Given the description of an element on the screen output the (x, y) to click on. 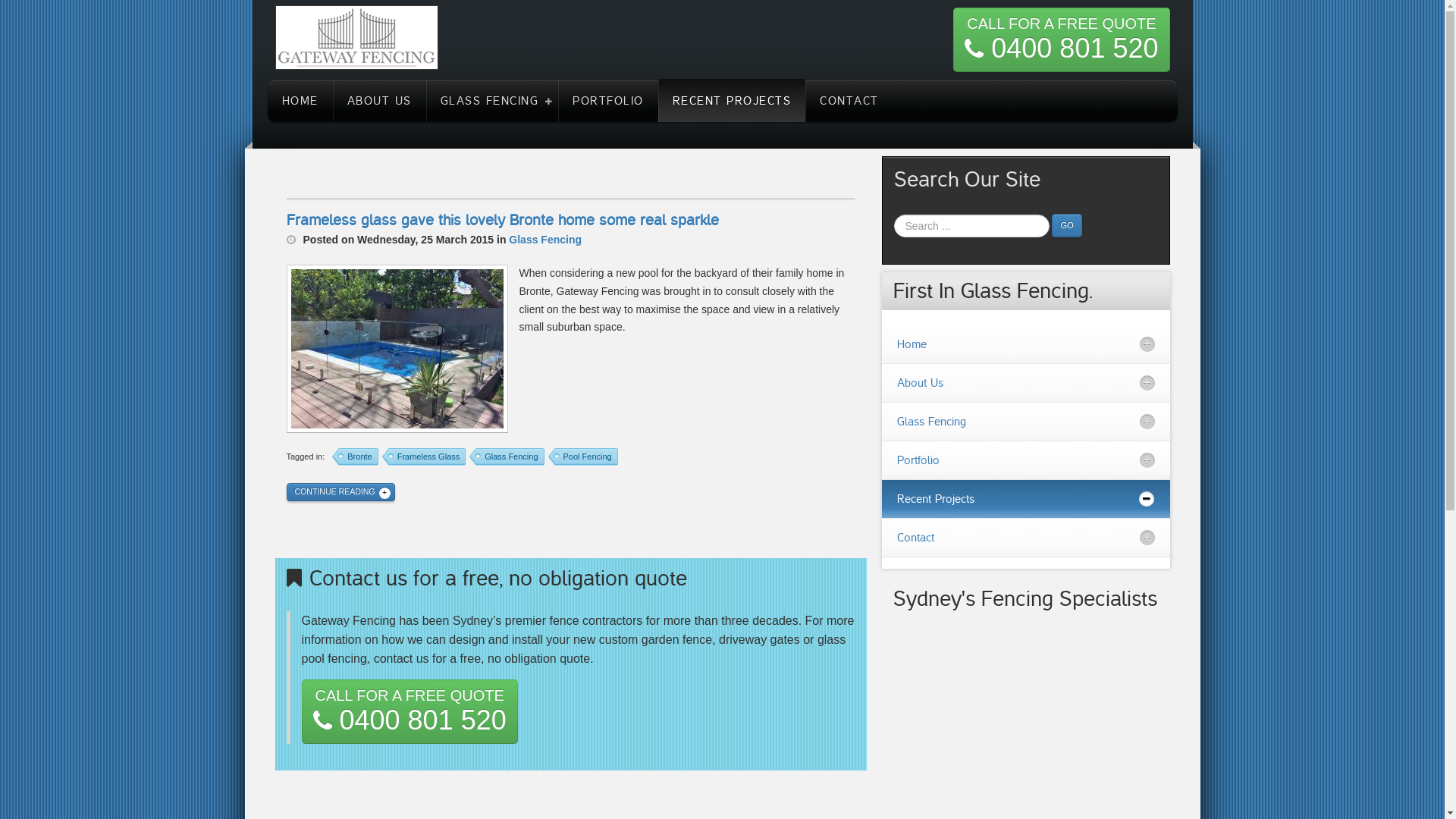
Bronte Element type: text (354, 456)
GLASS FENCING Element type: text (492, 100)
About Us Element type: text (1025, 382)
Home Element type: text (1025, 344)
Recent Projects Element type: text (1025, 498)
CALL FOR A FREE QUOTE
0400 801 520 Element type: text (409, 711)
Contact Element type: text (1025, 537)
GO Element type: text (1066, 225)
Glass Fencing Element type: text (506, 456)
CONTINUE READING Element type: text (340, 492)
Glass Fencing Element type: text (544, 239)
RECENT PROJECTS Element type: text (732, 100)
Portfolio Element type: text (1025, 460)
PORTFOLIO Element type: text (608, 100)
CONTACT Element type: text (849, 100)
CALL FOR A FREE QUOTE
0400 801 520 Element type: text (1061, 39)
HOME Element type: text (299, 100)
ABOUT US Element type: text (378, 100)
Glass Fencing Element type: text (1025, 421)
Frameless Glass Element type: text (424, 456)
Pool Fencing Element type: text (583, 456)
